Given the description of an element on the screen output the (x, y) to click on. 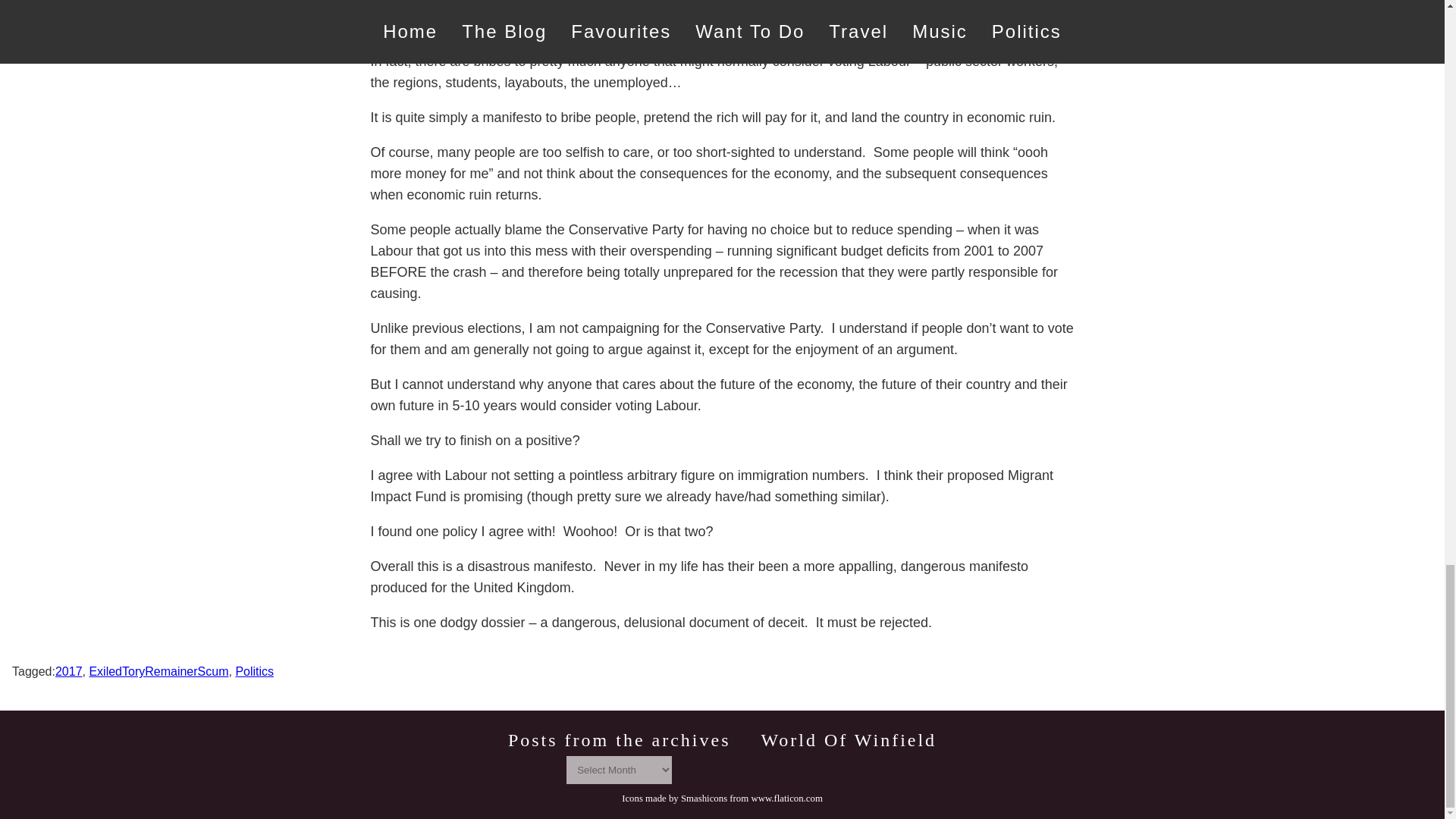
Politics (253, 671)
Smashicons (703, 798)
Flaticon (786, 798)
www.flaticon.com (786, 798)
2017 (68, 671)
Smashicons (703, 798)
ExiledToryRemainerScum (158, 671)
